Given the description of an element on the screen output the (x, y) to click on. 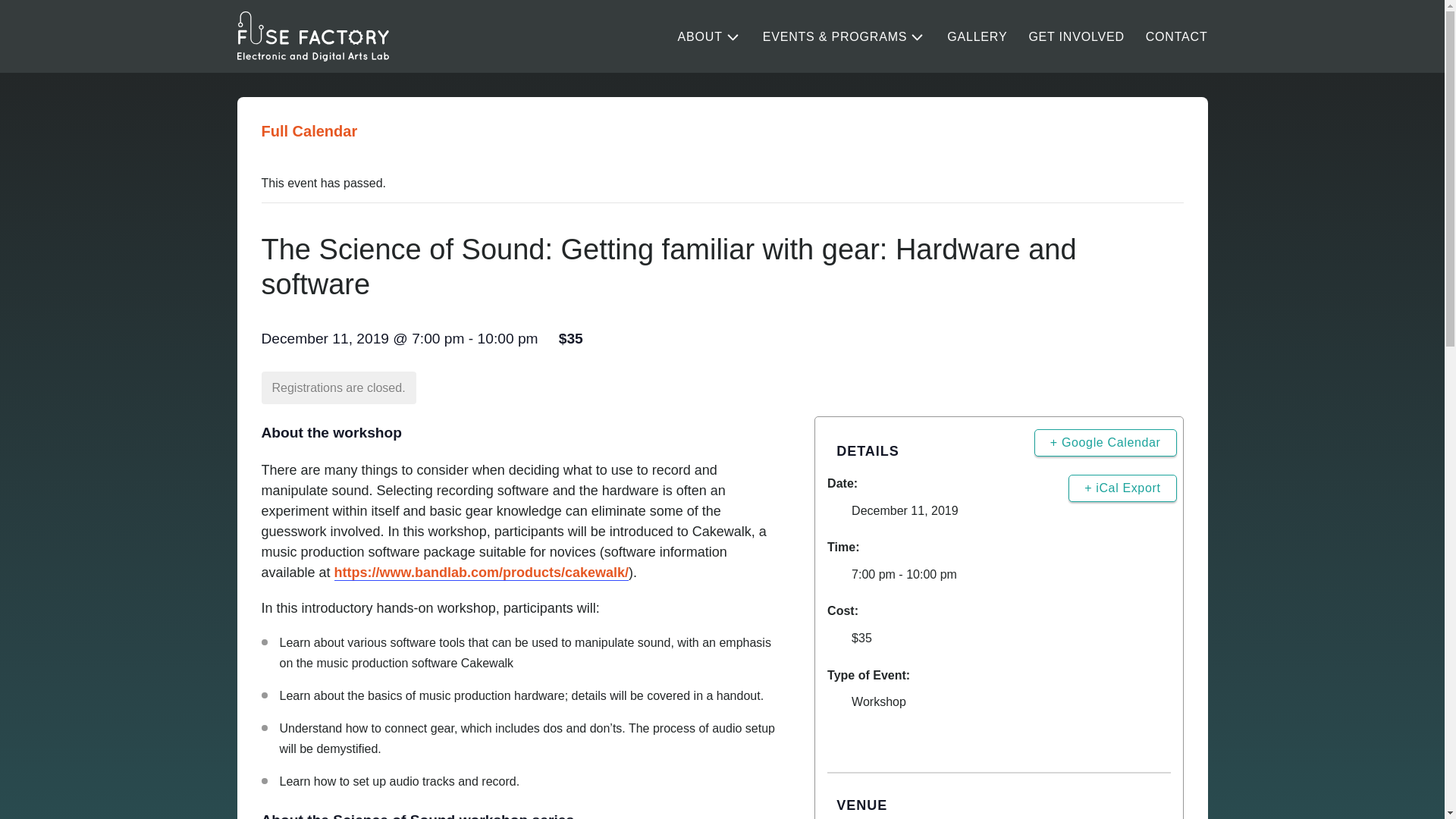
CONTACT (1176, 37)
Full Calendar (308, 130)
GALLERY (977, 37)
Fuse Factory (311, 36)
ABOUT (709, 37)
Download .ics file (1122, 488)
Add to Google Calendar (1104, 442)
2019-12-11 (904, 510)
2019-12-11 (998, 574)
GET INVOLVED (1075, 37)
